Given the description of an element on the screen output the (x, y) to click on. 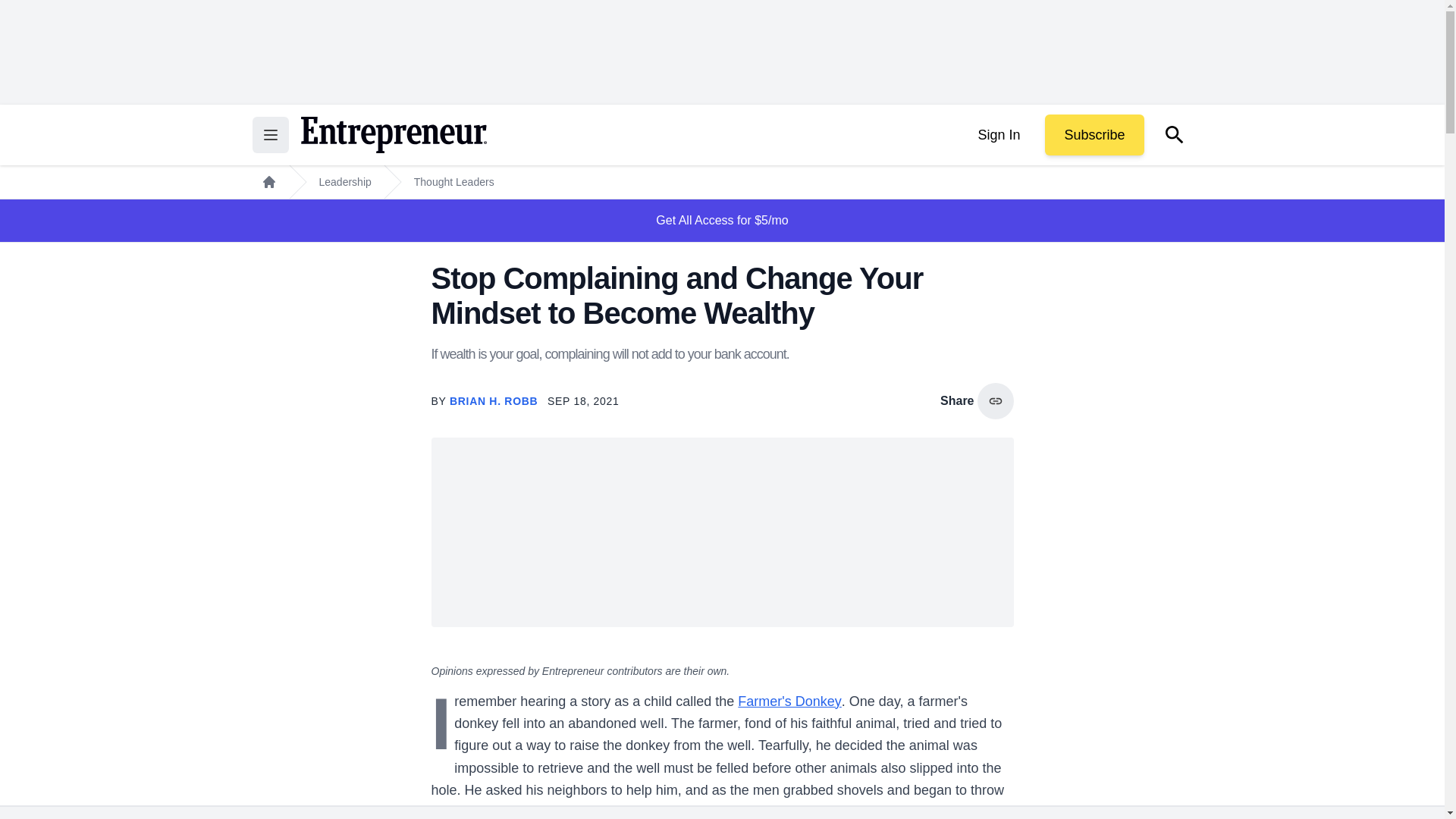
Return to the home page (392, 135)
Subscribe (1093, 134)
copy (994, 401)
Sign In (998, 134)
